Given the description of an element on the screen output the (x, y) to click on. 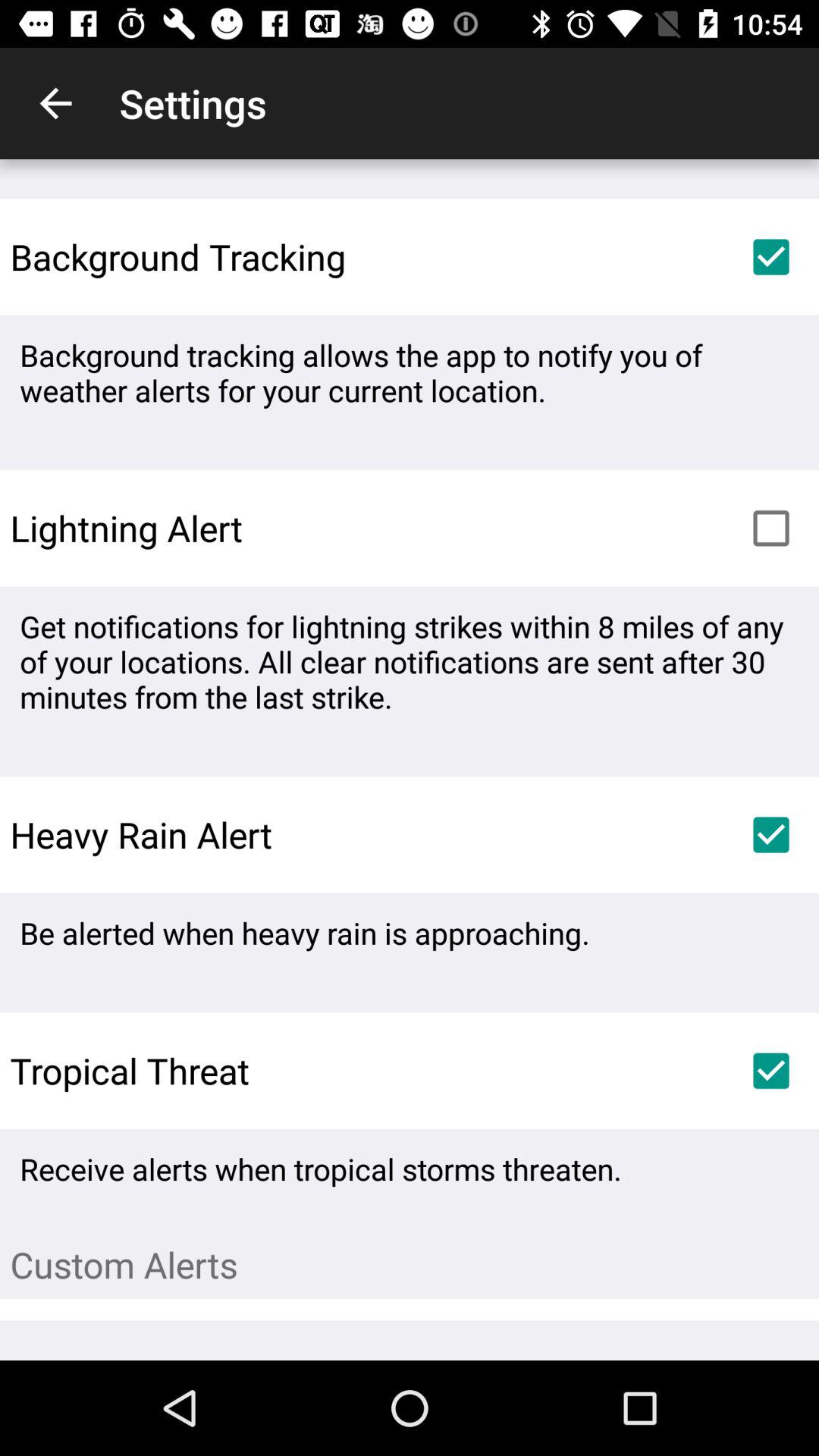
turn on item next to the background tracking item (771, 256)
